Given the description of an element on the screen output the (x, y) to click on. 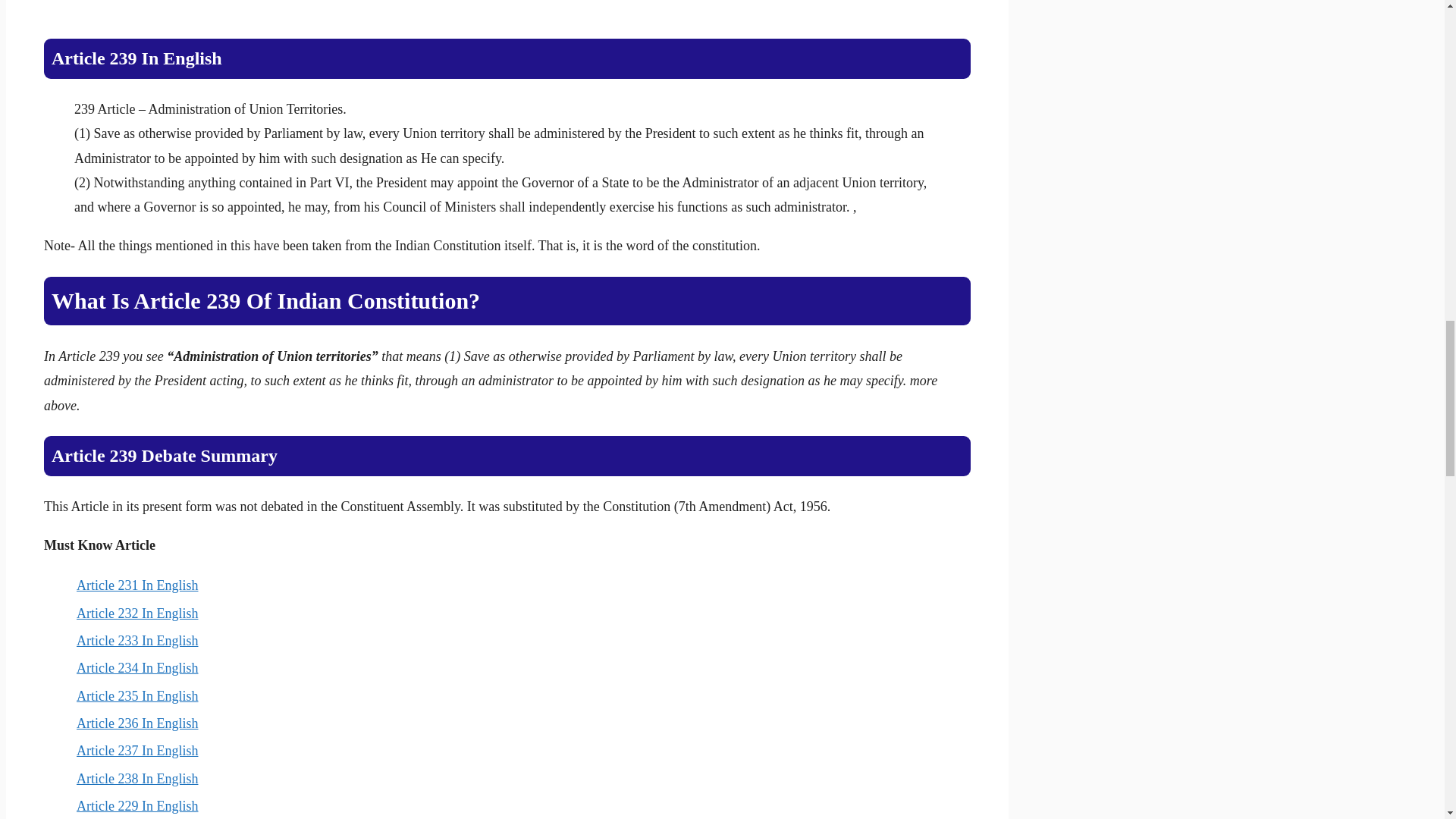
Article 232 In English (137, 613)
Article 231 In English (137, 585)
Article 233 In English (137, 640)
Article 236 In English (137, 723)
Article 234 In English (137, 667)
Article 235 In English (137, 695)
Article 238 In English (137, 778)
Article 229 In English (137, 806)
Article 237 In English (137, 750)
